Given the description of an element on the screen output the (x, y) to click on. 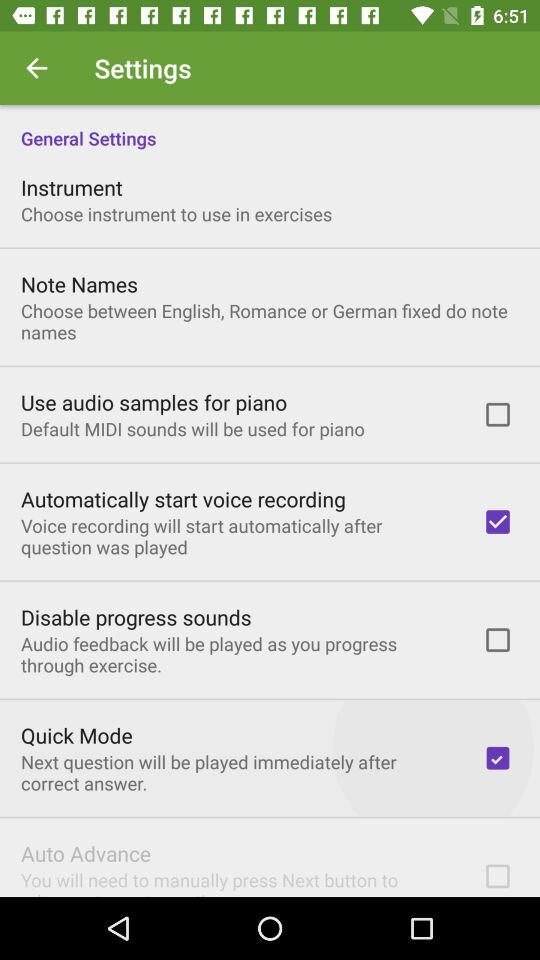
scroll until default midi sounds (192, 428)
